Given the description of an element on the screen output the (x, y) to click on. 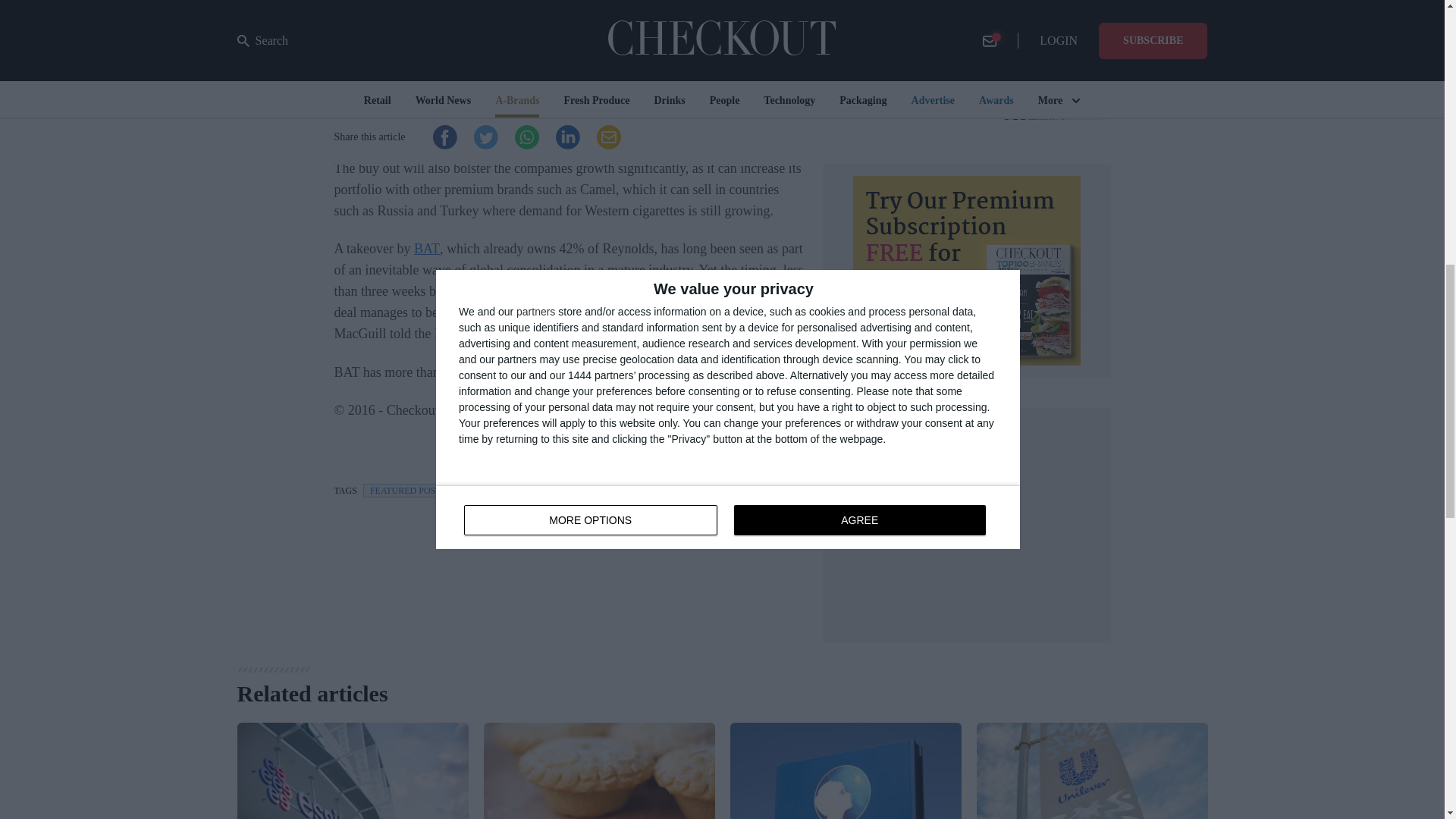
Brexit (738, 146)
BAT (426, 248)
